Given the description of an element on the screen output the (x, y) to click on. 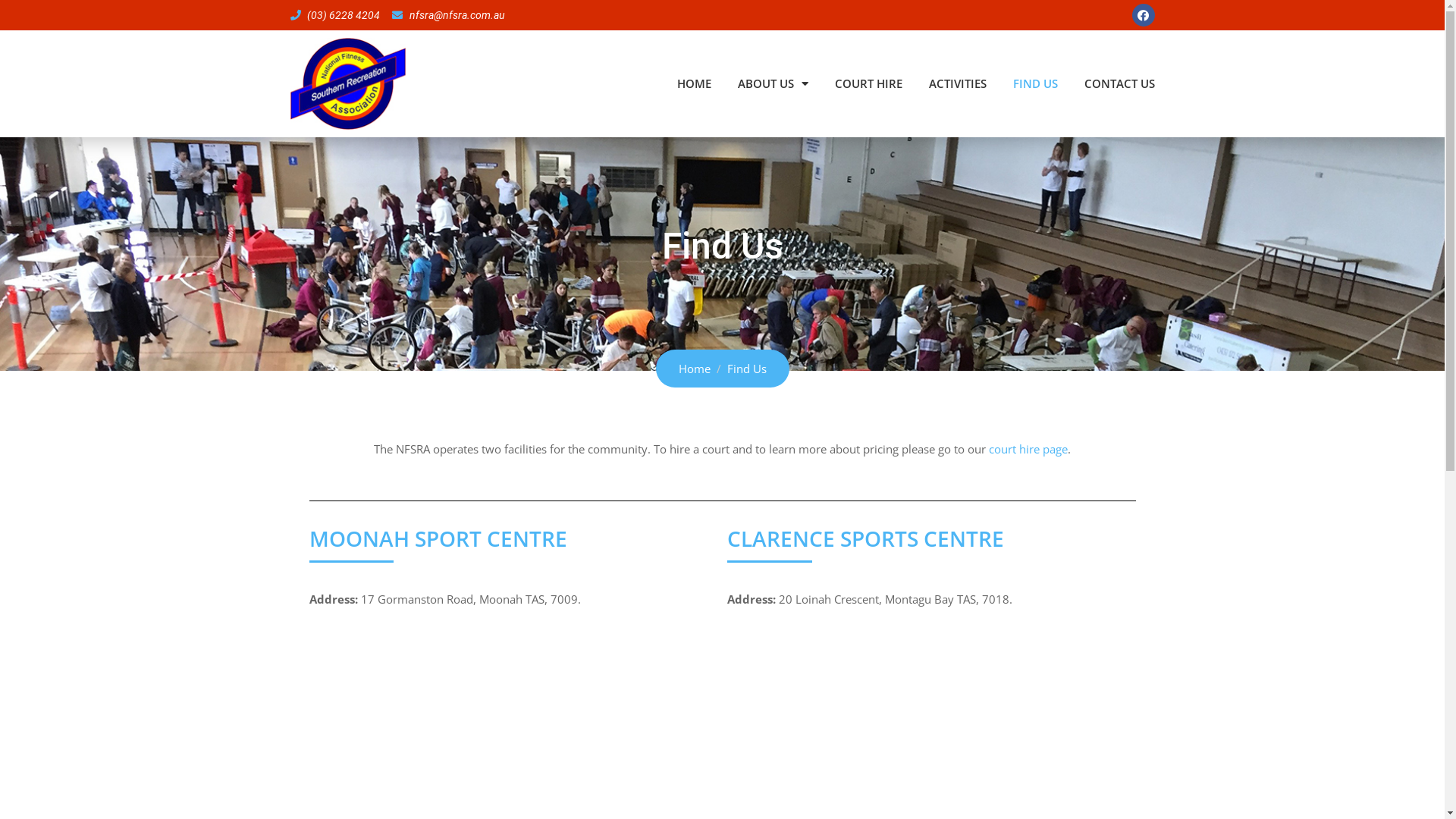
COURT HIRE Element type: text (867, 83)
court hire page Element type: text (1027, 448)
FIND US Element type: text (1035, 83)
ACTIVITIES Element type: text (956, 83)
Home Element type: text (693, 368)
CONTACT US Element type: text (1119, 83)
ABOUT US Element type: text (772, 83)
(03) 6228 4204 Element type: text (334, 15)
nfsra@nfsra.com.au Element type: text (448, 15)
HOME Element type: text (693, 83)
